Given the description of an element on the screen output the (x, y) to click on. 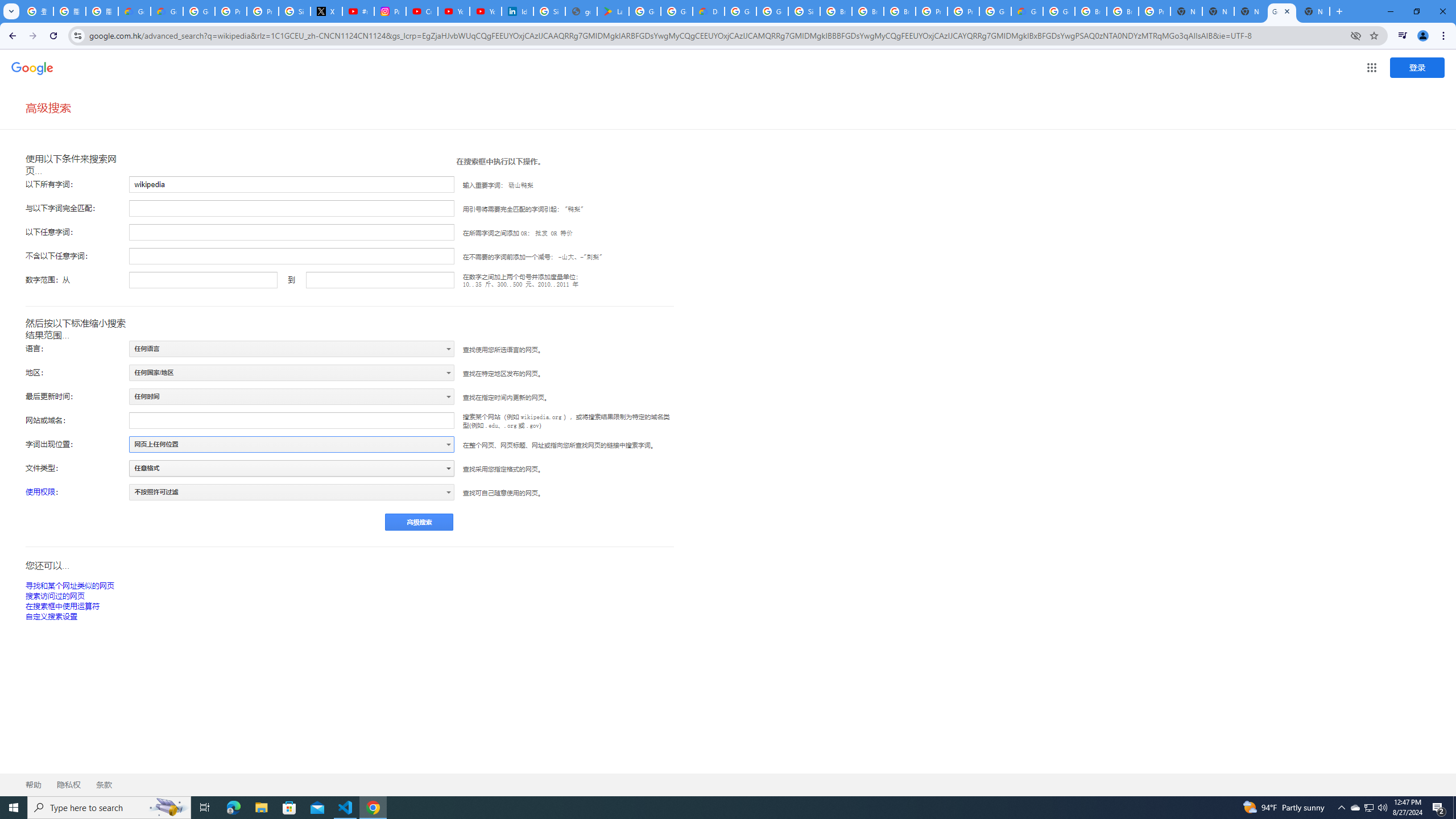
Sign in - Google Accounts (294, 11)
New Tab (1185, 11)
Google Cloud Privacy Notice (166, 11)
Google Cloud Platform (740, 11)
New Tab (1313, 11)
